Given the description of an element on the screen output the (x, y) to click on. 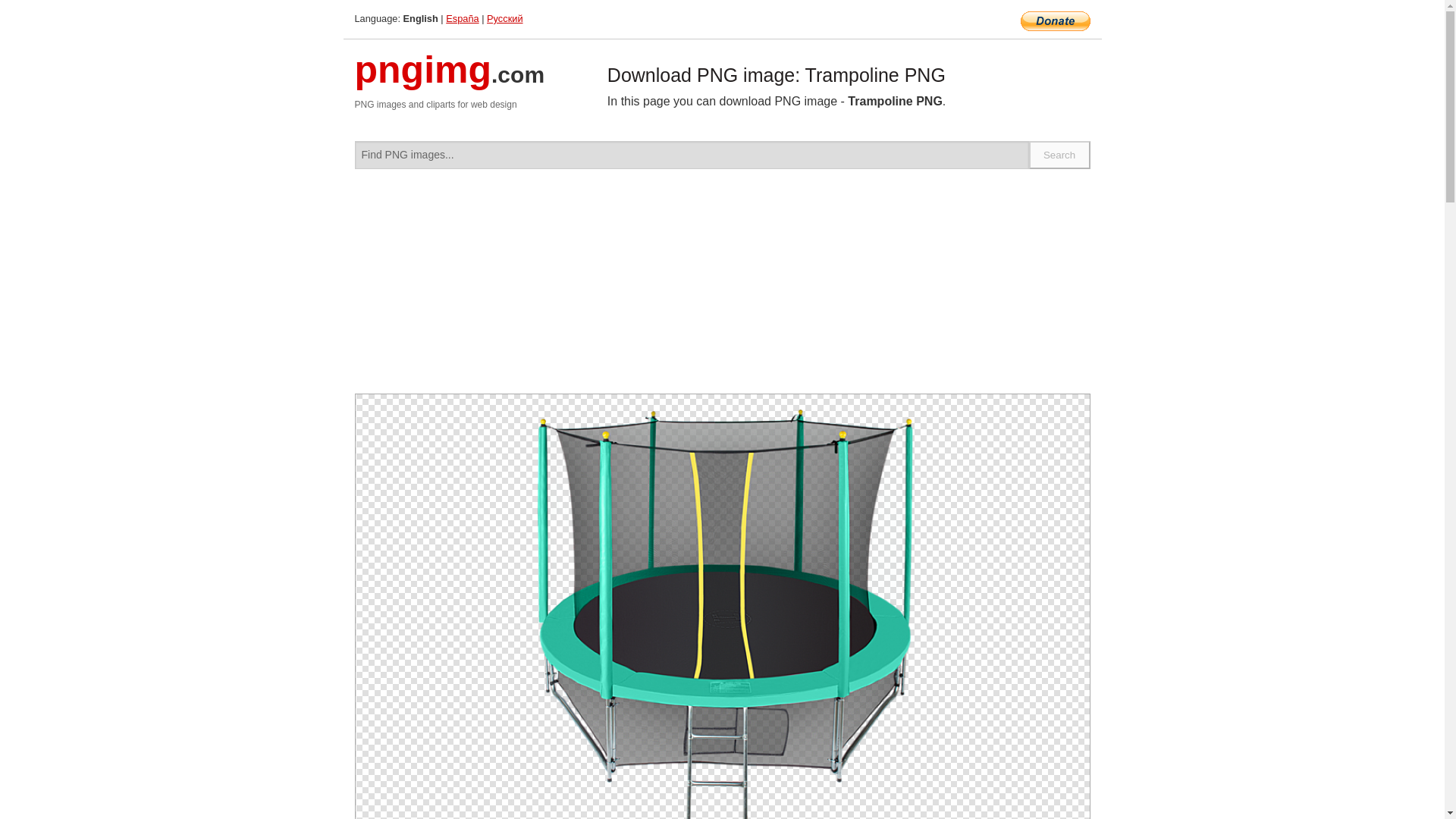
Search (1059, 154)
pngimg.com (449, 78)
Search (1059, 154)
